Given the description of an element on the screen output the (x, y) to click on. 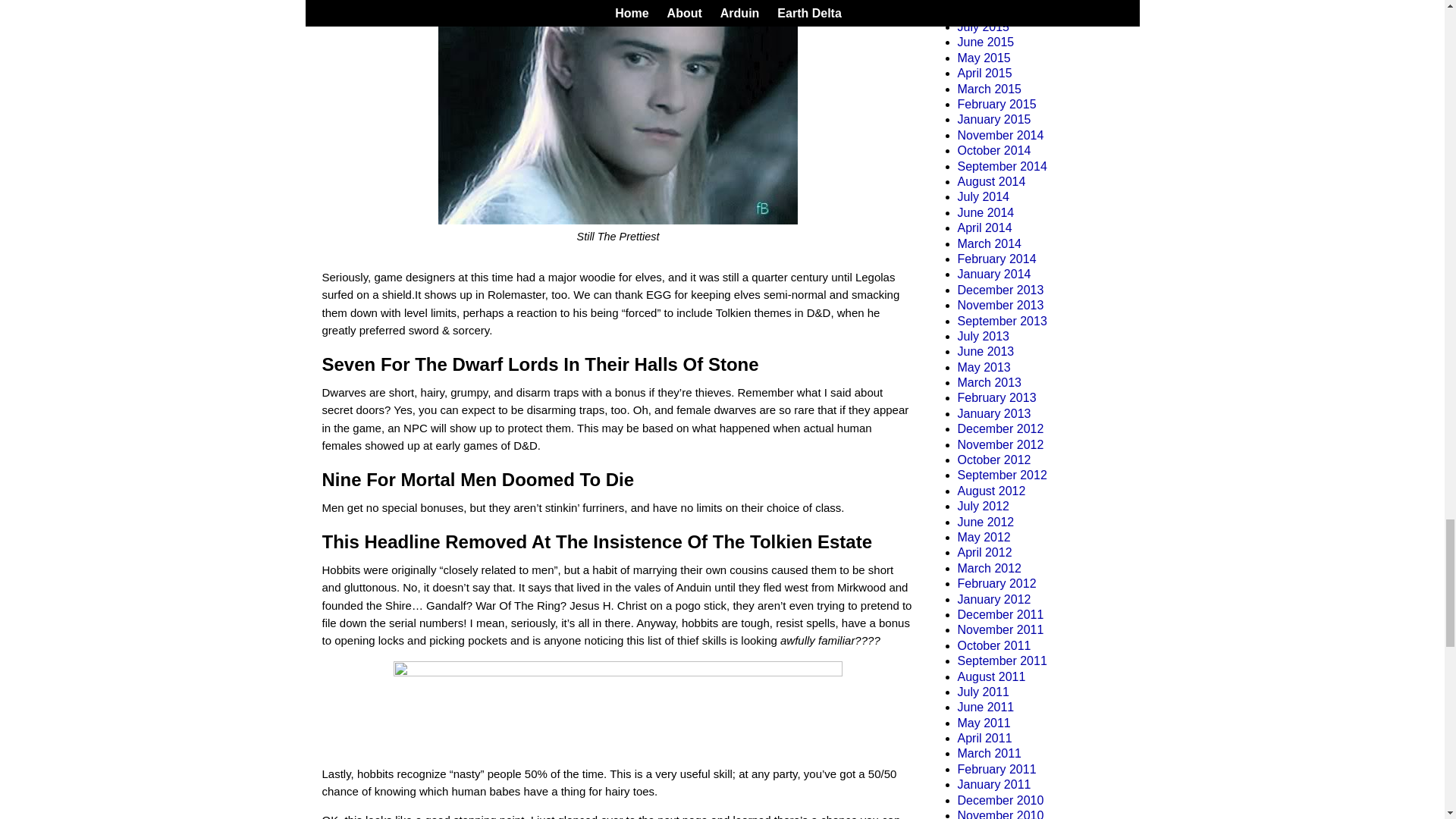
Legolas (617, 112)
thieves (618, 708)
